Given the description of an element on the screen output the (x, y) to click on. 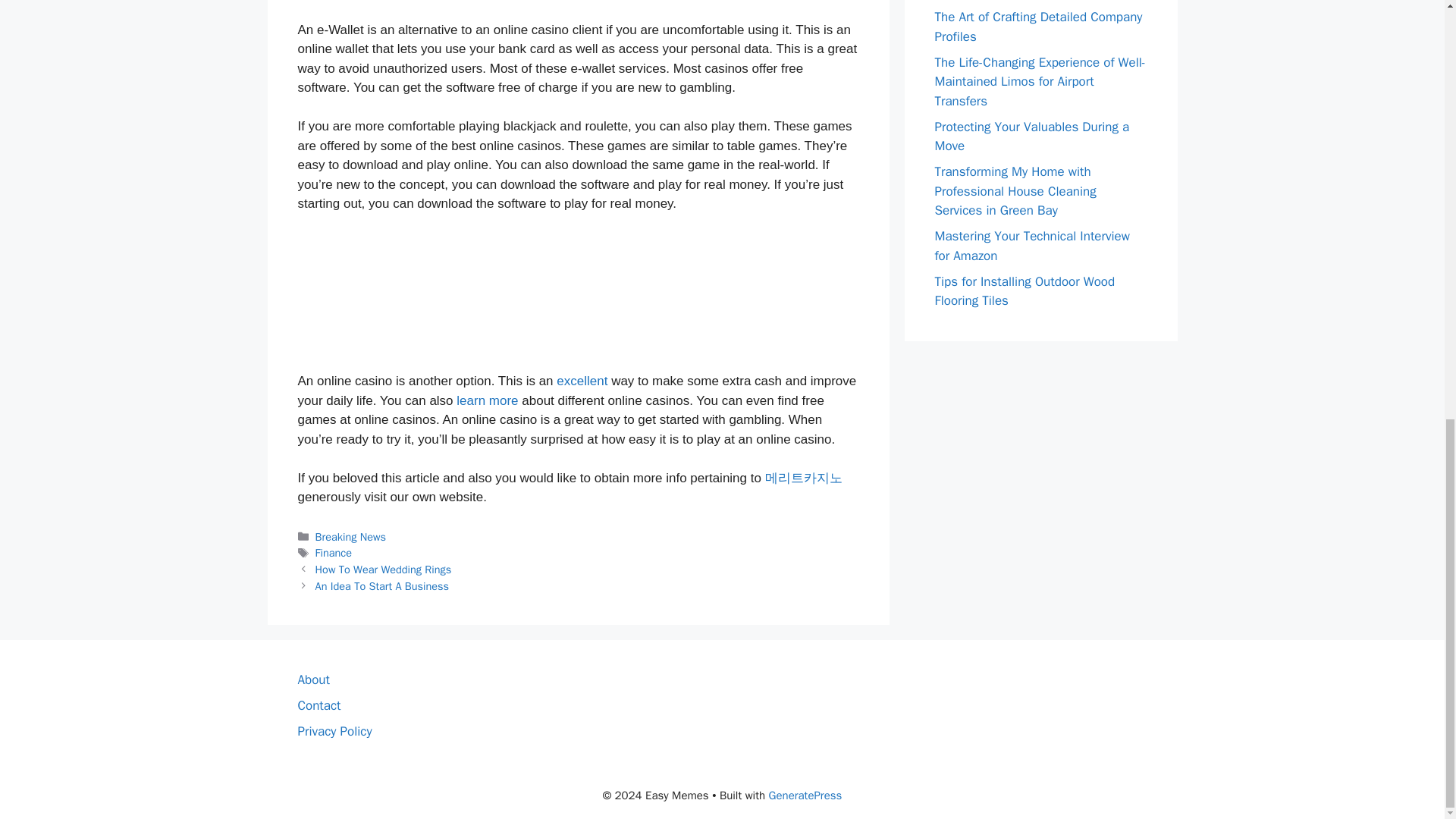
The Art of Crafting Detailed Company Profiles (1037, 27)
How To Wear Wedding Rings (383, 569)
excellent (581, 380)
An Idea To Start A Business (381, 585)
Finance (333, 552)
Breaking News (350, 536)
learn more (487, 400)
